Given the description of an element on the screen output the (x, y) to click on. 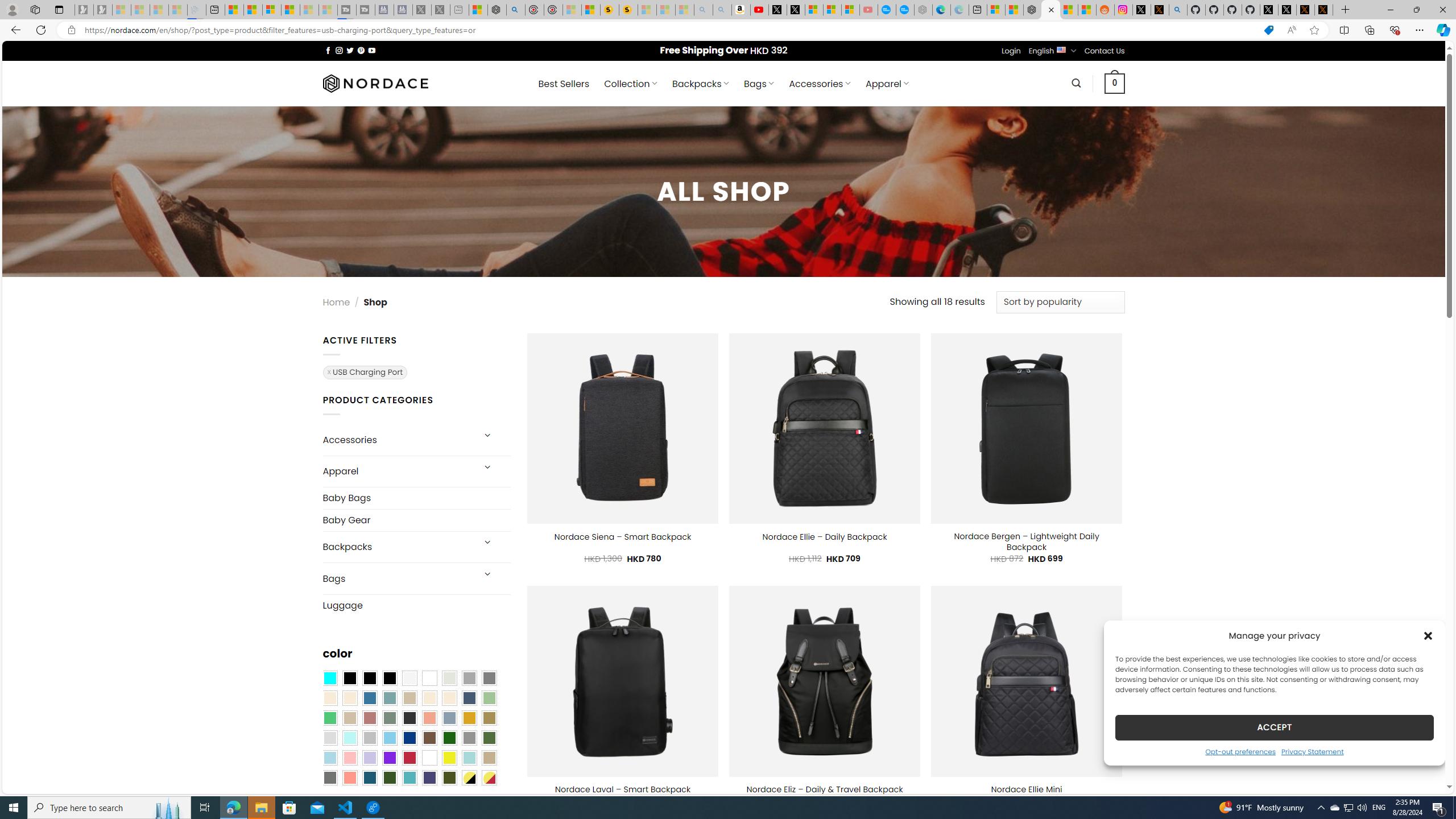
Microsoft account | Microsoft Account Privacy Settings (996, 9)
Light Purple (369, 758)
This site has coupons! Shopping in Microsoft Edge (1268, 29)
Light Taupe (349, 717)
New tab - Sleeping (459, 9)
Dusty Blue (449, 717)
Search (1076, 83)
Brownie (408, 698)
Follow on Instagram (338, 49)
Beige-Brown (349, 698)
Browser essentials (1394, 29)
